Given the description of an element on the screen output the (x, y) to click on. 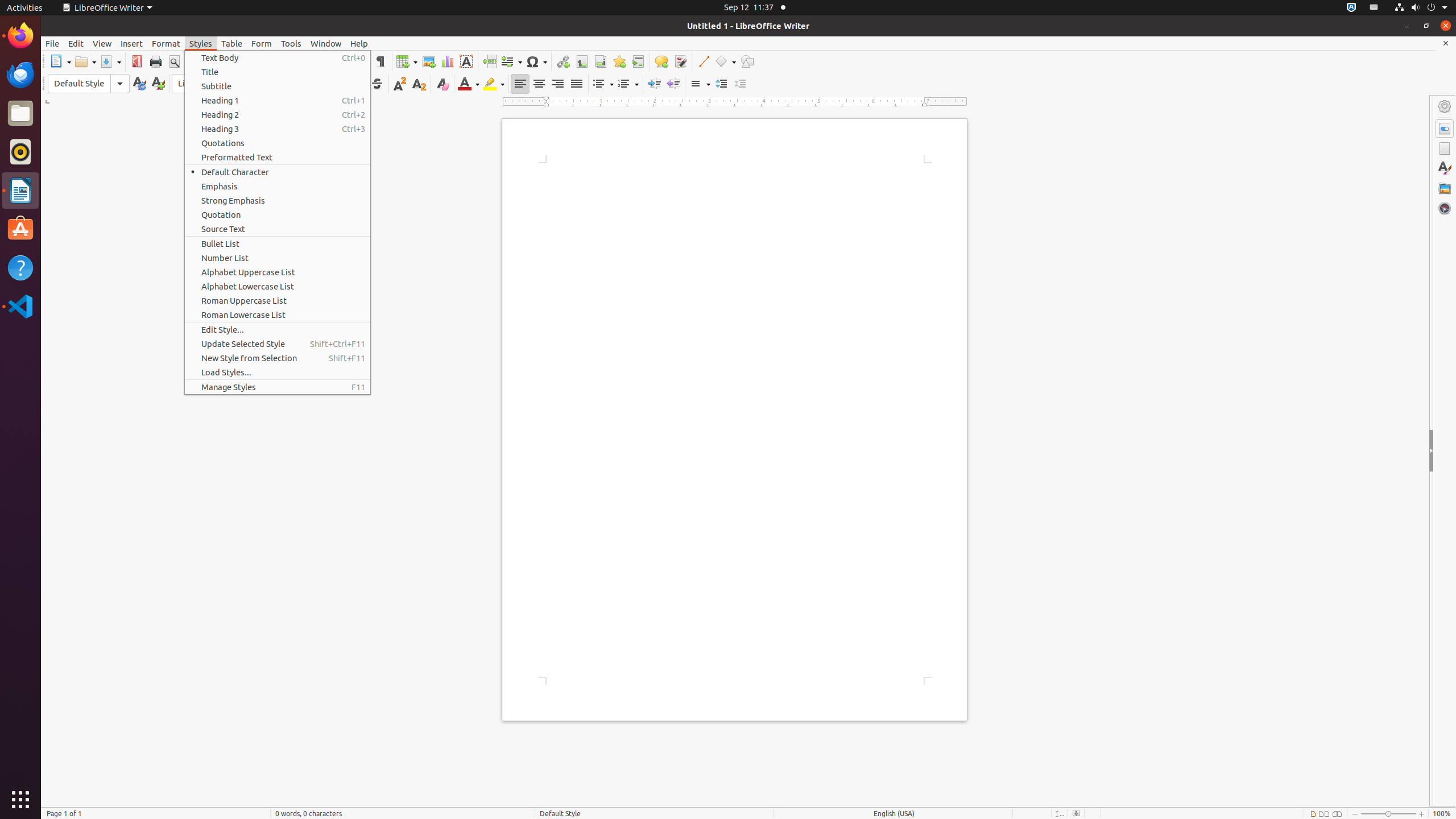
Alphabet Lowercase List Element type: radio-menu-item (277, 286)
Update Selected Style Element type: menu-item (277, 343)
Image Element type: push-button (428, 61)
Show Applications Element type: toggle-button (20, 799)
Preformatted Text Element type: radio-menu-item (277, 157)
